Given the description of an element on the screen output the (x, y) to click on. 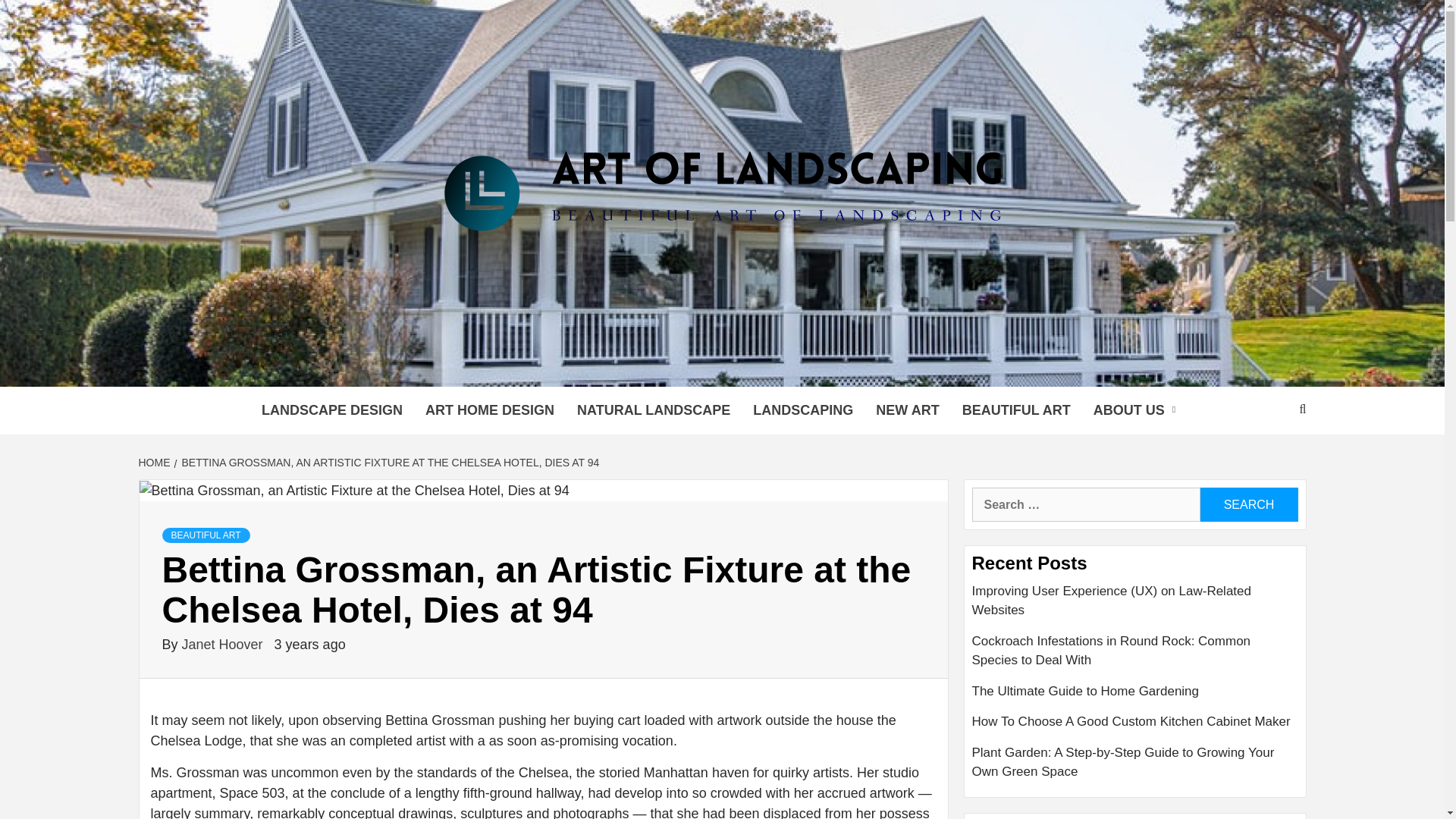
Search (1248, 504)
Janet Hoover (224, 644)
NATURAL LANDSCAPE (653, 410)
BEAUTIFUL ART (1015, 410)
LANDSCAPING (802, 410)
ART OF LANDSCAPING (571, 367)
NEW ART (907, 410)
ABOUT US (1137, 410)
How To Choose A Good Custom Kitchen Cabinet Maker (1135, 726)
ART HOME DESIGN (489, 410)
Search (1248, 504)
HOME (155, 462)
LANDSCAPE DESIGN (331, 410)
